Given the description of an element on the screen output the (x, y) to click on. 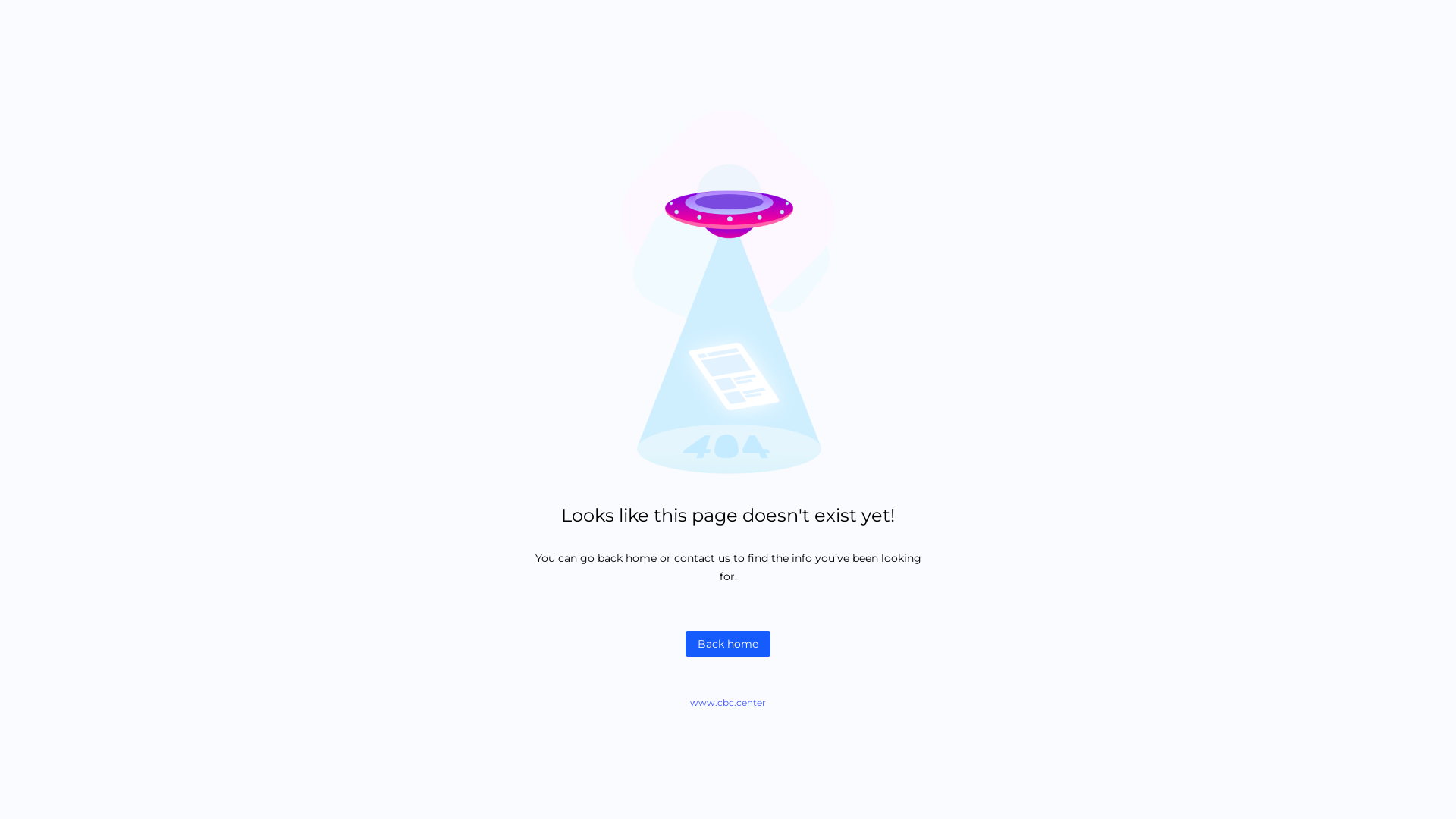
Back home Element type: text (727, 643)
www.cbc.center Element type: text (727, 702)
